Given the description of an element on the screen output the (x, y) to click on. 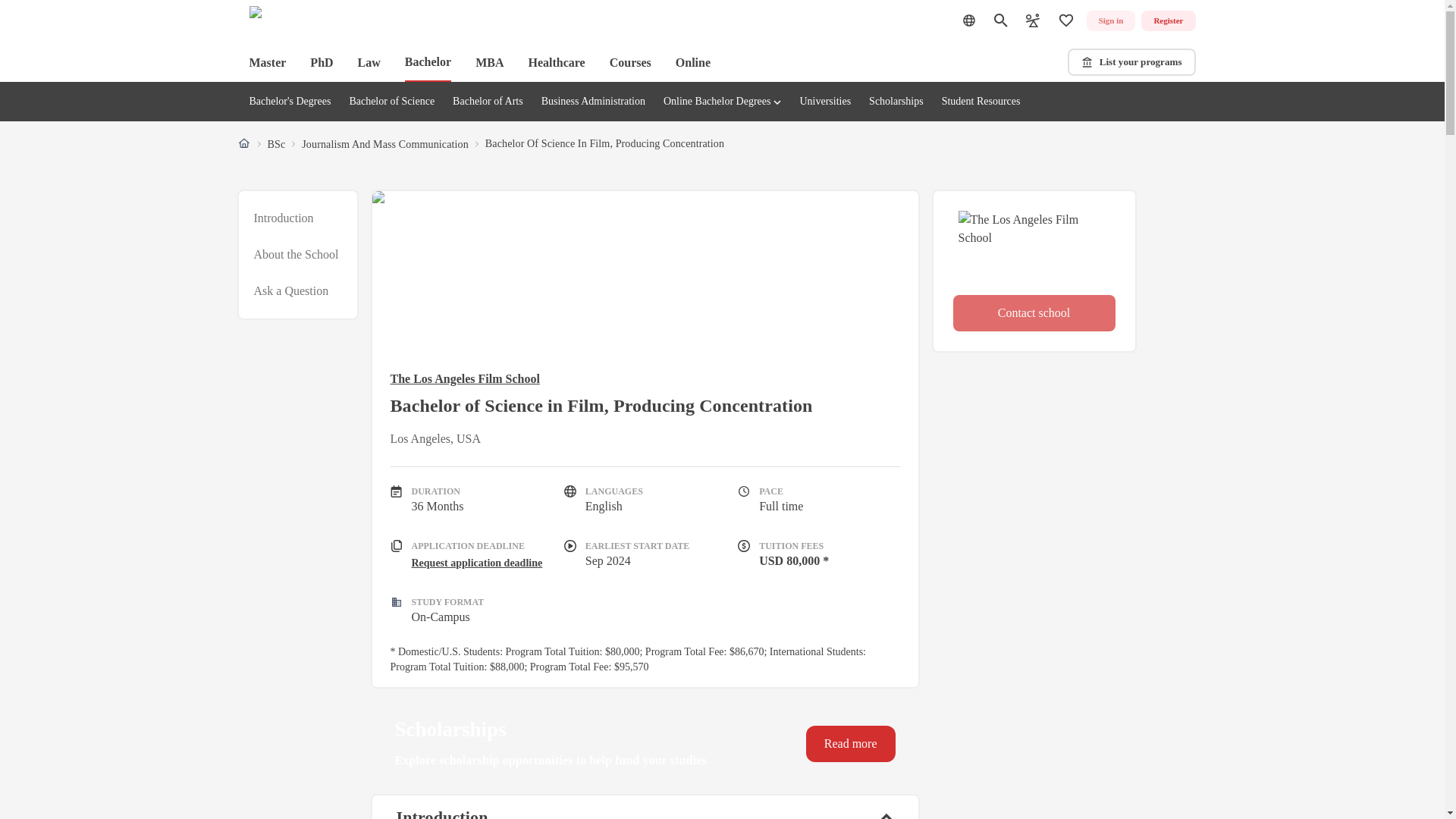
Bachelor of Arts (487, 101)
Sign in (1110, 20)
Bachelor's Degrees (289, 101)
Healthcare (296, 254)
About the School (556, 63)
Courses (295, 254)
Universities (630, 63)
